Given the description of an element on the screen output the (x, y) to click on. 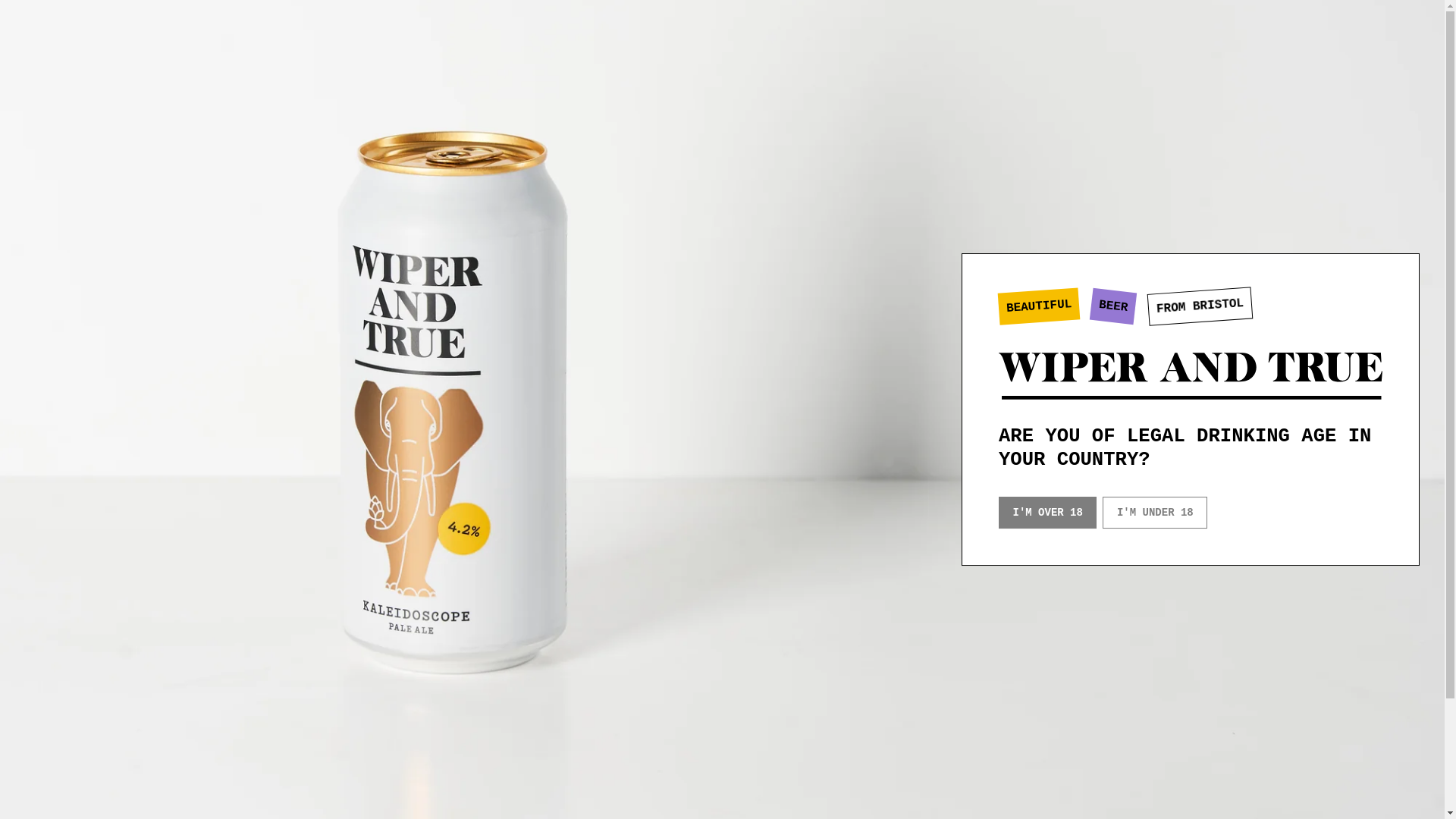
SKIP TO CONTENT (61, 10)
Log in (1352, 66)
Go to home (187, 650)
Wiper and True email signup form (134, 484)
I'M UNDER 18 (1154, 512)
Wiper and True (126, 67)
I'M OVER 18 (1047, 512)
Wiper and True (1189, 375)
Cart (1385, 66)
